Given the description of an element on the screen output the (x, y) to click on. 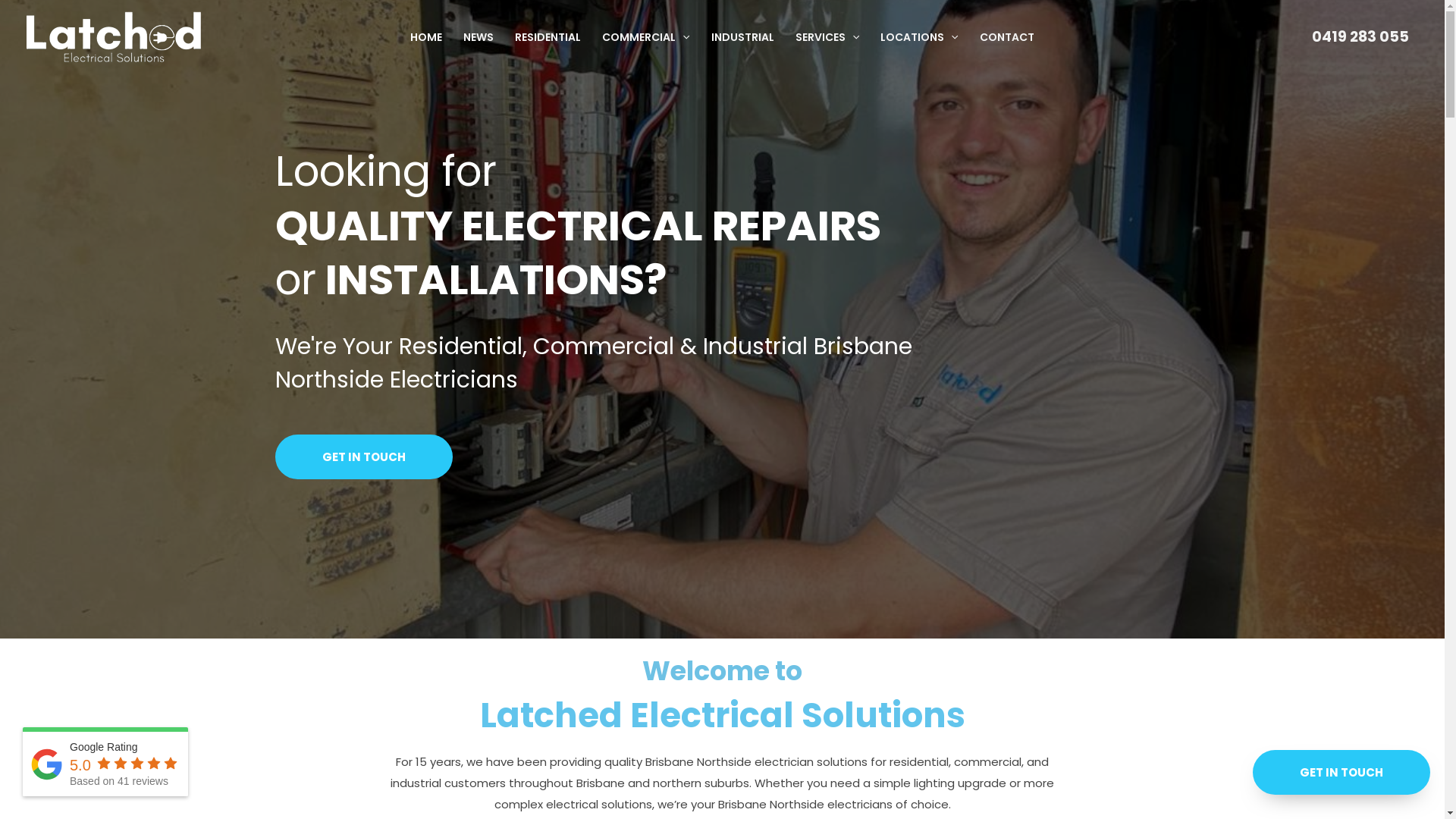
CONTACT Element type: text (1006, 36)
COMMERCIAL Element type: text (645, 36)
NEWS Element type: text (478, 36)
HOME Element type: text (425, 36)
LOCATIONS Element type: text (918, 36)
INDUSTRIAL Element type: text (742, 36)
0419 283 055 Element type: text (1359, 36)
SERVICES Element type: text (826, 36)
GET IN TOUCH Element type: text (1341, 771)
RESIDENTIAL Element type: text (547, 36)
GET IN TOUCH Element type: text (362, 455)
